Given the description of an element on the screen output the (x, y) to click on. 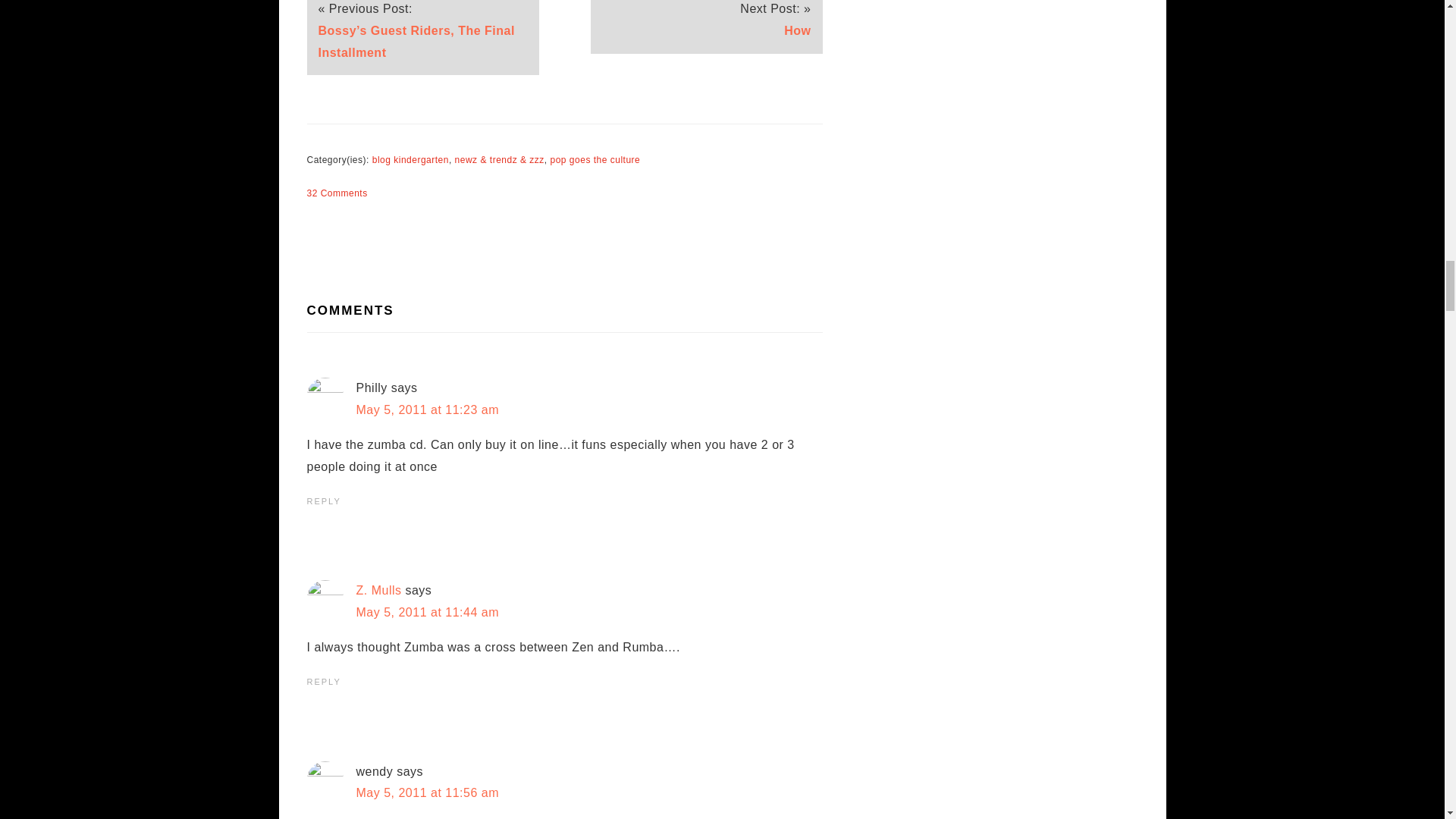
May 5, 2011 at 11:23 am (427, 409)
pop goes the culture (595, 159)
blog kindergarten (410, 159)
REPLY (322, 681)
REPLY (322, 501)
May 5, 2011 at 11:56 am (427, 792)
Z. Mulls (378, 590)
May 5, 2011 at 11:44 am (427, 612)
32 Comments (335, 193)
How (797, 30)
